Given the description of an element on the screen output the (x, y) to click on. 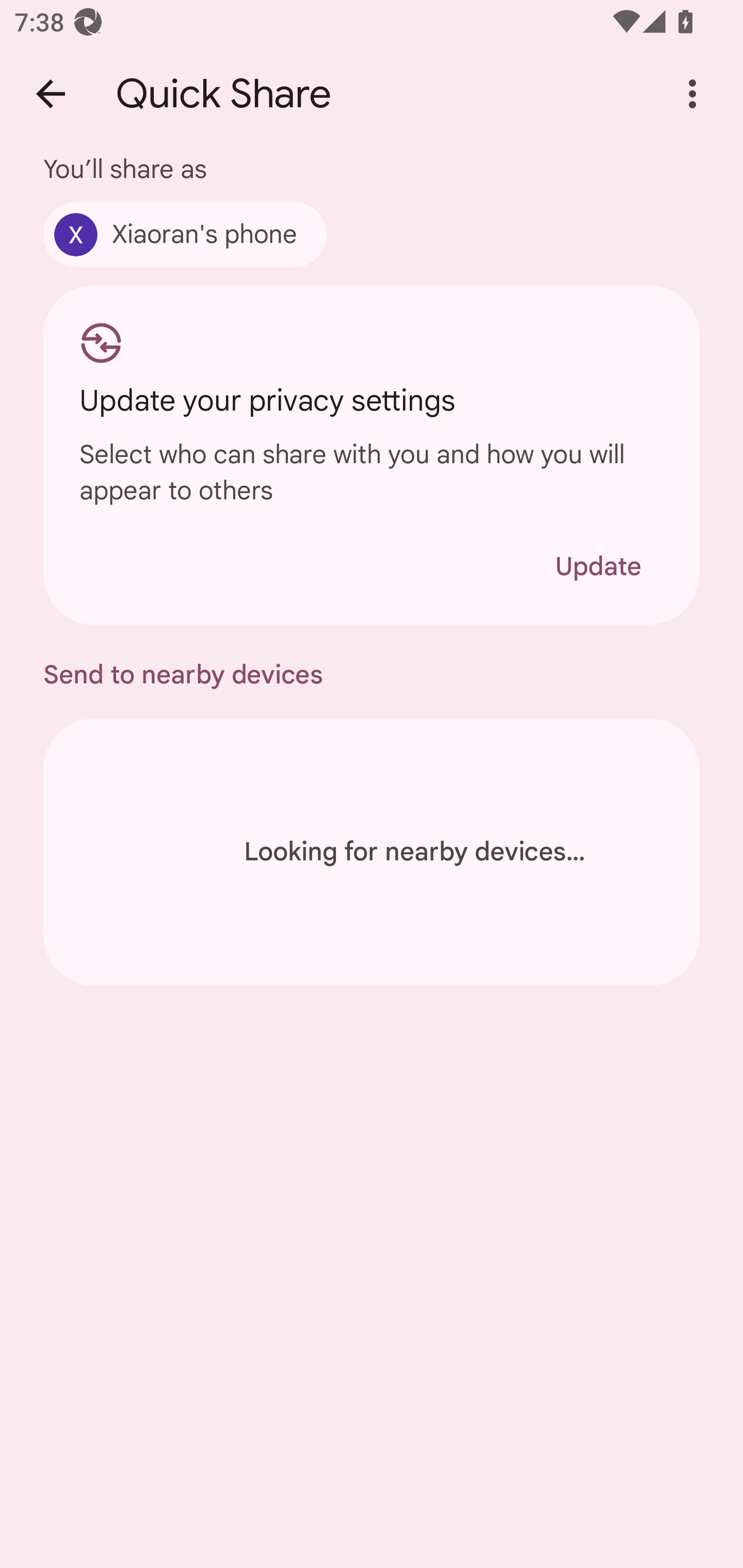
Back (50, 93)
More (692, 93)
Xiaoran's phone (184, 234)
Update (598, 566)
